Given the description of an element on the screen output the (x, y) to click on. 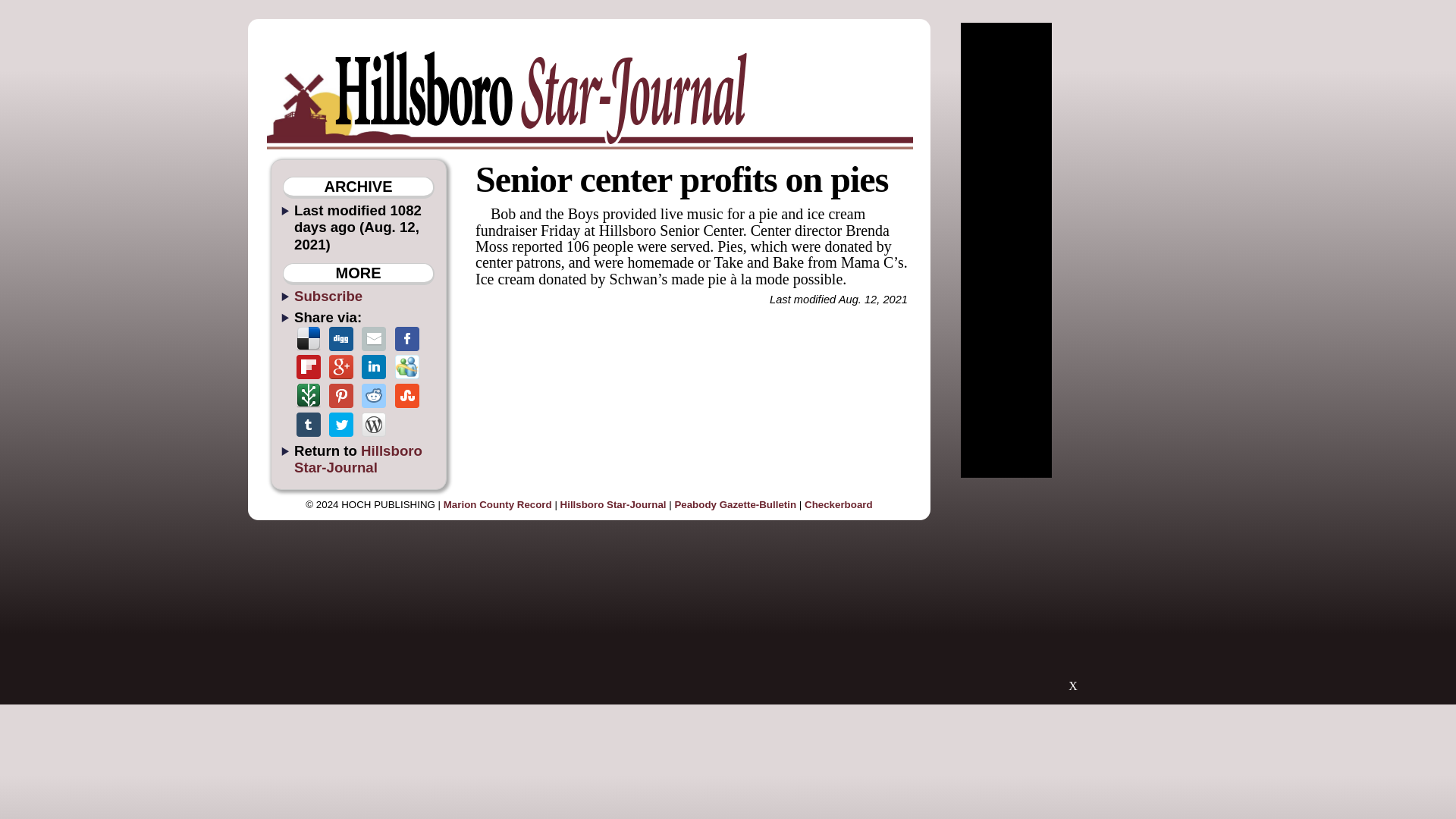
Hillsboro Star-Journal (613, 504)
Advertisement (1072, 591)
Peabody Gazette-Bulletin (735, 504)
Subscribe (328, 295)
Checkerboard (838, 504)
Hillsboro Star-Journal (358, 459)
Marion County Record (497, 504)
